Given the description of an element on the screen output the (x, y) to click on. 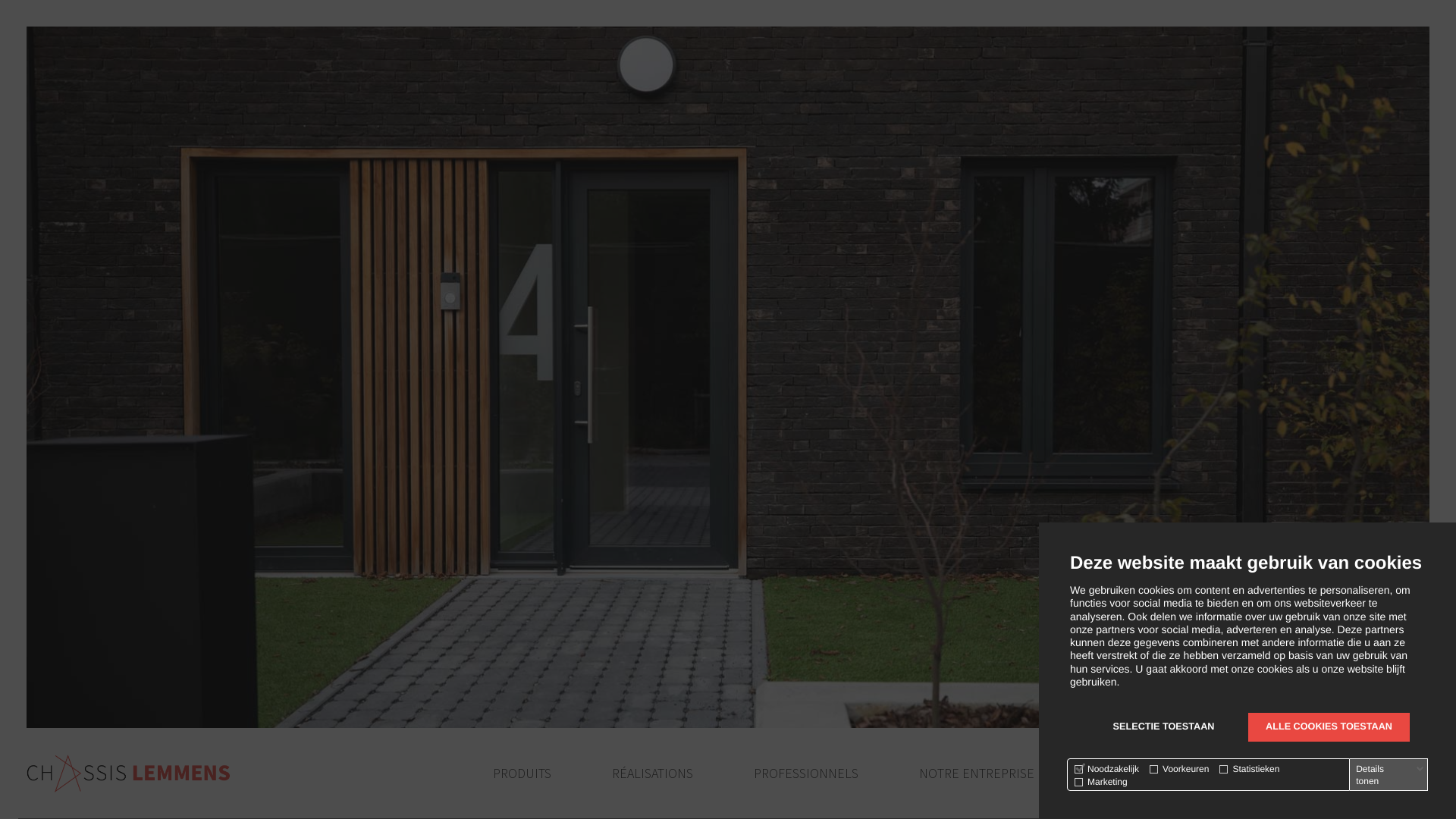
ALLE COOKIES TOESTAAN Element type: text (1328, 726)
Details tonen Element type: text (1389, 774)
FR Element type: text (1424, 773)
SELECTIE TOESTAAN Element type: text (1163, 726)
